Given the description of an element on the screen output the (x, y) to click on. 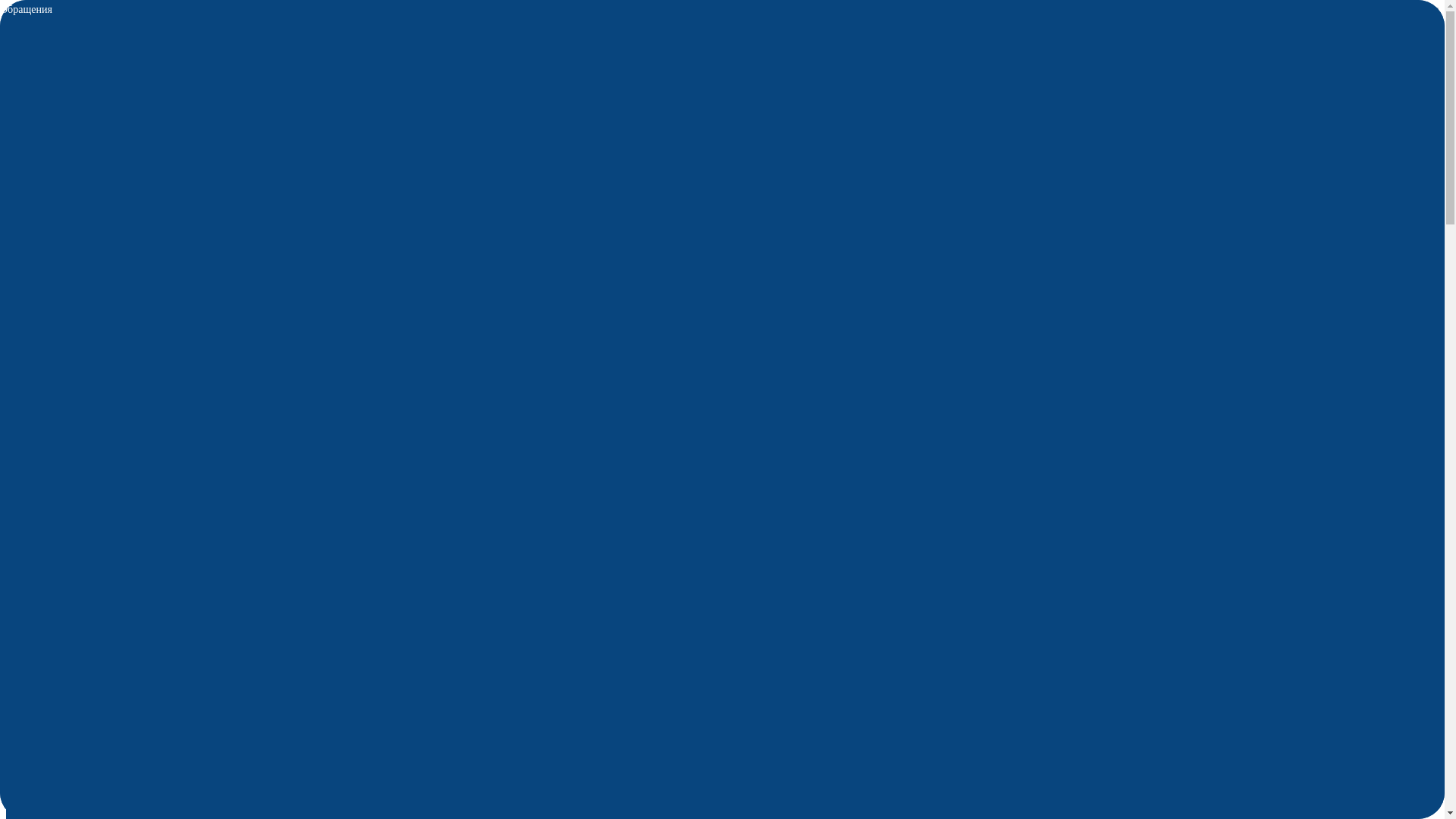
+375 17 259 88 05 Element type: text (52, 428)
+375 17 259 88 86 Element type: text (235, 63)
Belarusian Element type: hover (1416, 12)
+ 375 232 22 42 01 Element type: text (231, 89)
+7 495 624 19 39 Element type: text (204, 37)
Russian Element type: hover (1431, 12)
